Given the description of an element on the screen output the (x, y) to click on. 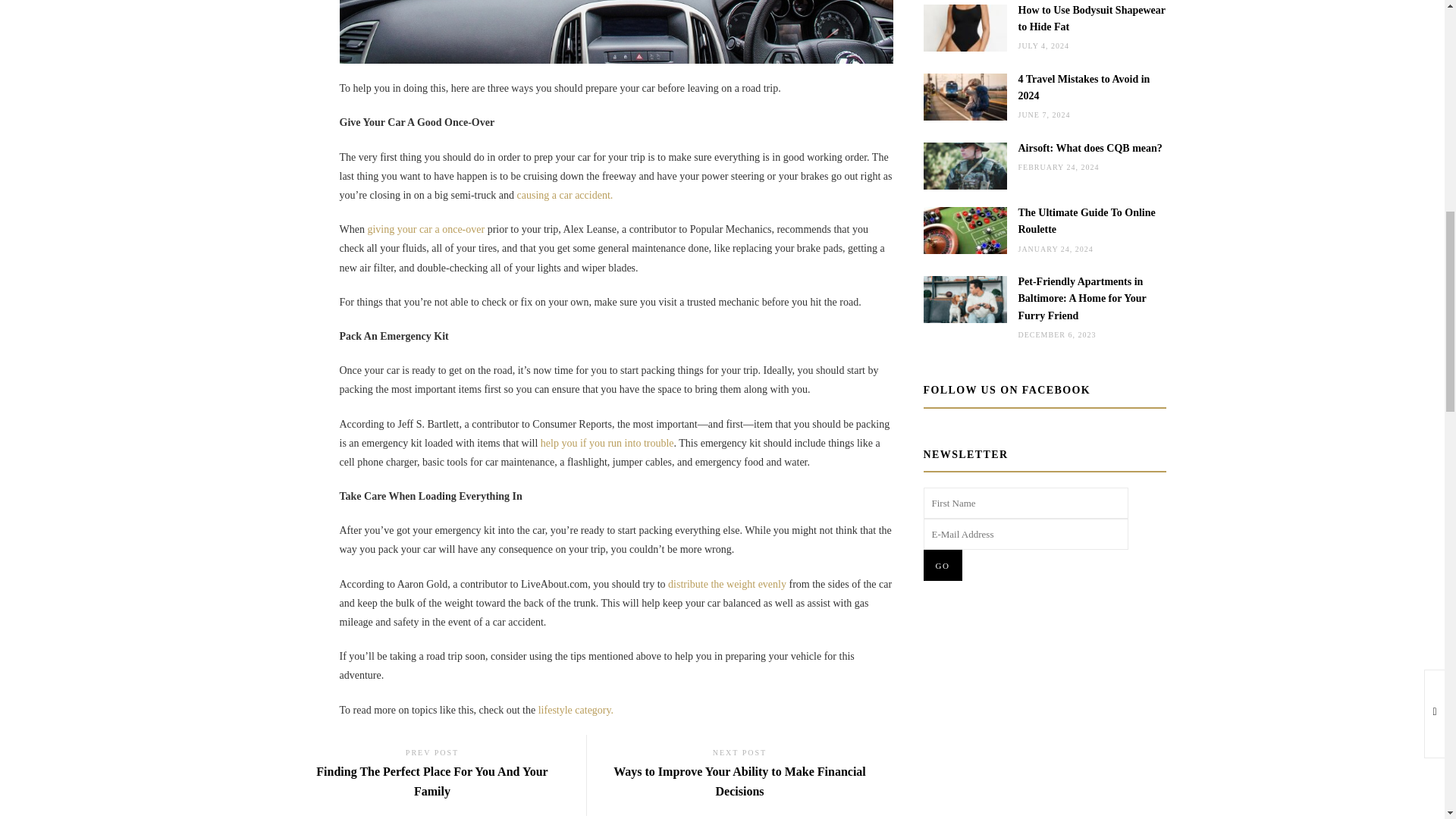
Go (942, 564)
help you if you run into trouble (432, 774)
causing a car accident. (607, 442)
lifestyle category. (564, 194)
distribute the weight evenly (575, 709)
giving your car a once-over (727, 583)
